Given the description of an element on the screen output the (x, y) to click on. 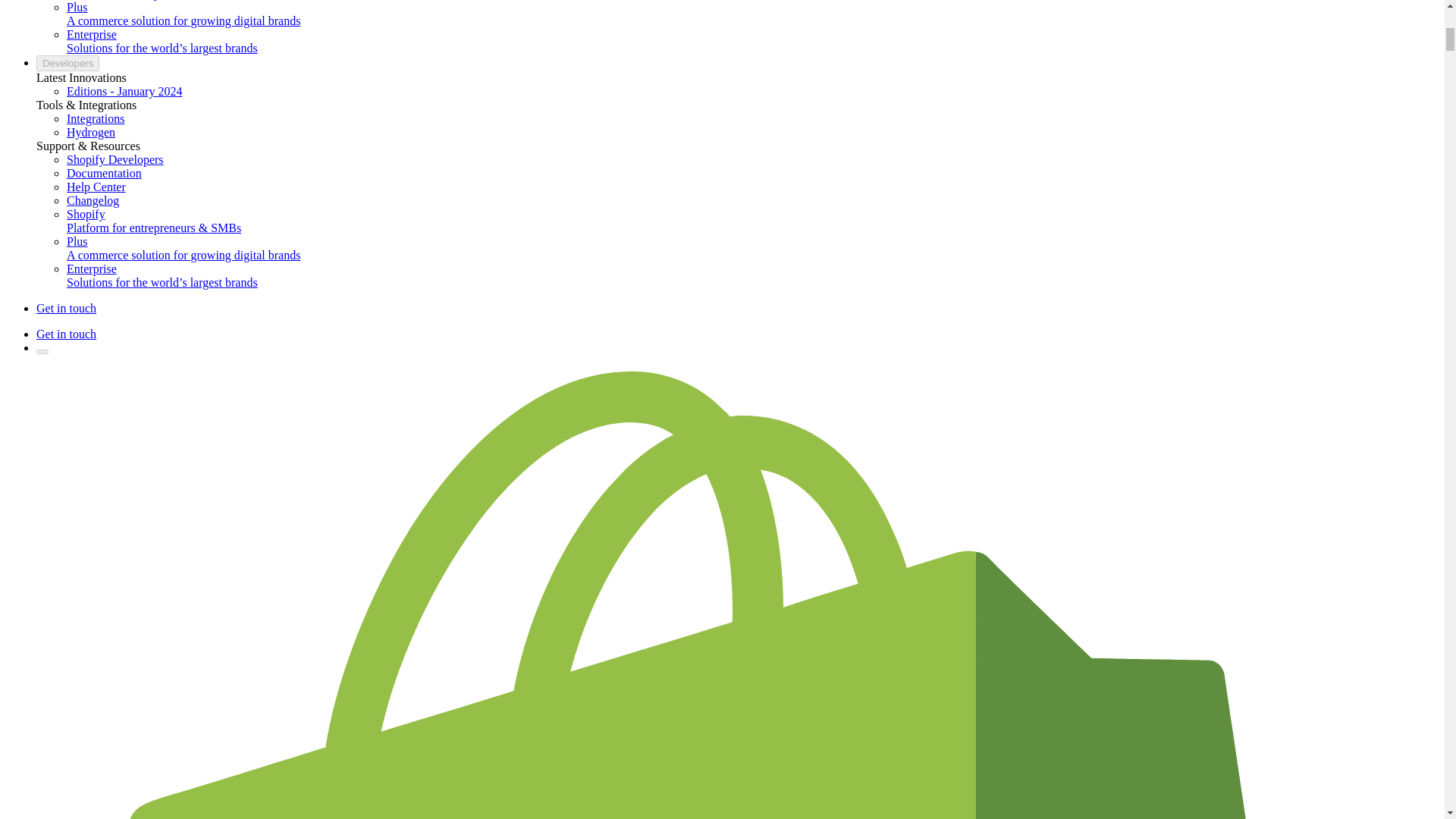
Developers (67, 63)
